Given the description of an element on the screen output the (x, y) to click on. 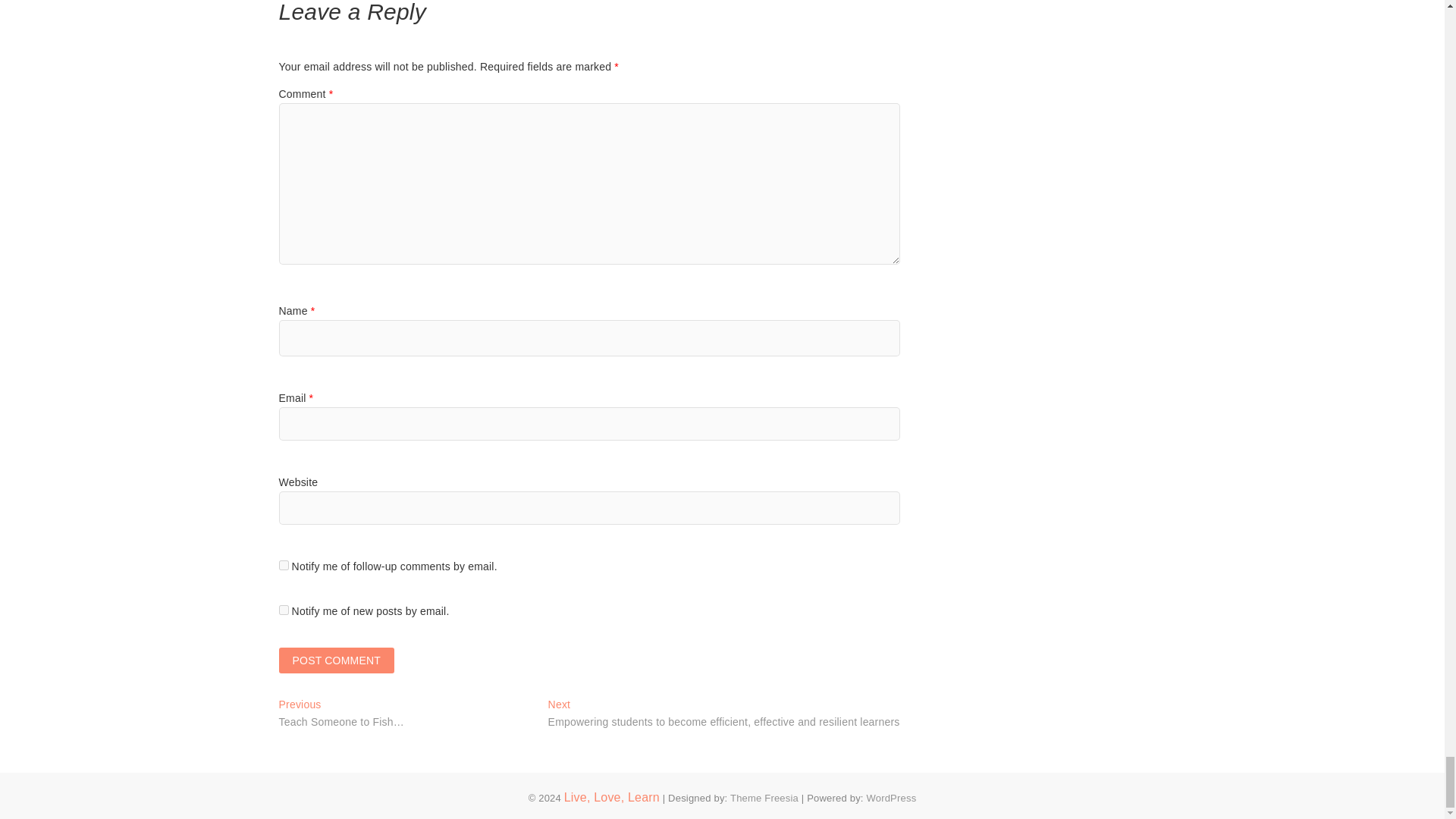
subscribe (283, 610)
subscribe (283, 565)
Post Comment (336, 660)
WordPress (890, 797)
Live, Love, Learn (611, 797)
Theme Freesia (763, 797)
